Given the description of an element on the screen output the (x, y) to click on. 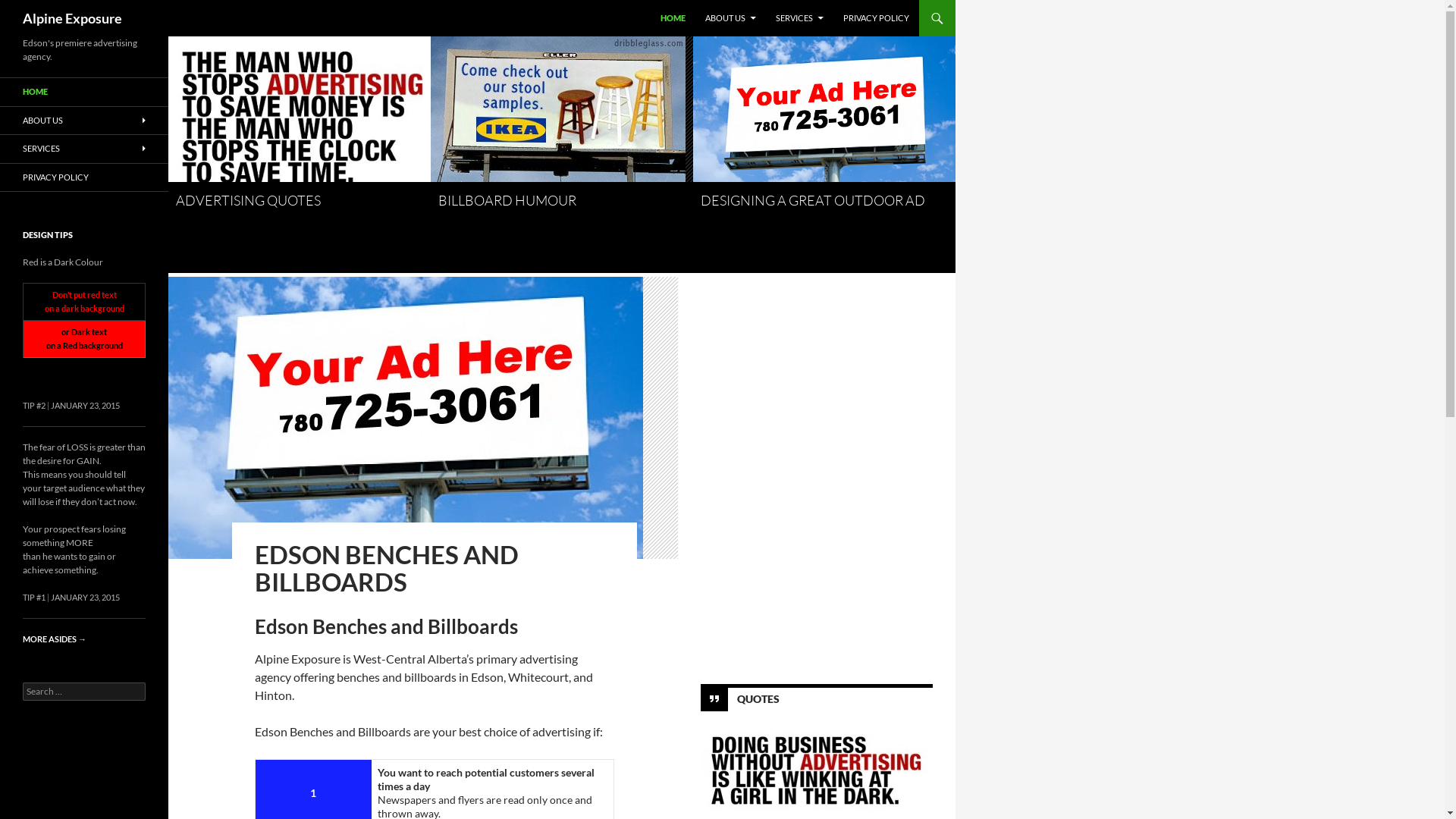
TIP #2 Element type: text (33, 405)
Alpine Exposure Element type: text (72, 18)
HOME Element type: text (672, 18)
BILLBOARD HUMOUR Element type: text (507, 199)
ABOUT US Element type: text (84, 120)
DESIGNING A GREAT OUTDOOR AD Element type: text (812, 199)
TIP #1 Element type: text (33, 597)
PRIVACY POLICY Element type: text (876, 18)
HOME Element type: text (84, 92)
JANUARY 23, 2015 Element type: text (84, 405)
DESIGN TIPS Element type: text (47, 234)
QUOTES Element type: text (758, 697)
SERVICES Element type: text (799, 18)
JANUARY 23, 2015 Element type: text (84, 597)
ADVERTISING QUOTES Element type: text (247, 199)
ABOUT US Element type: text (730, 18)
Search Element type: text (29, 9)
SERVICES Element type: text (84, 148)
PRIVACY POLICY Element type: text (84, 177)
